Given the description of an element on the screen output the (x, y) to click on. 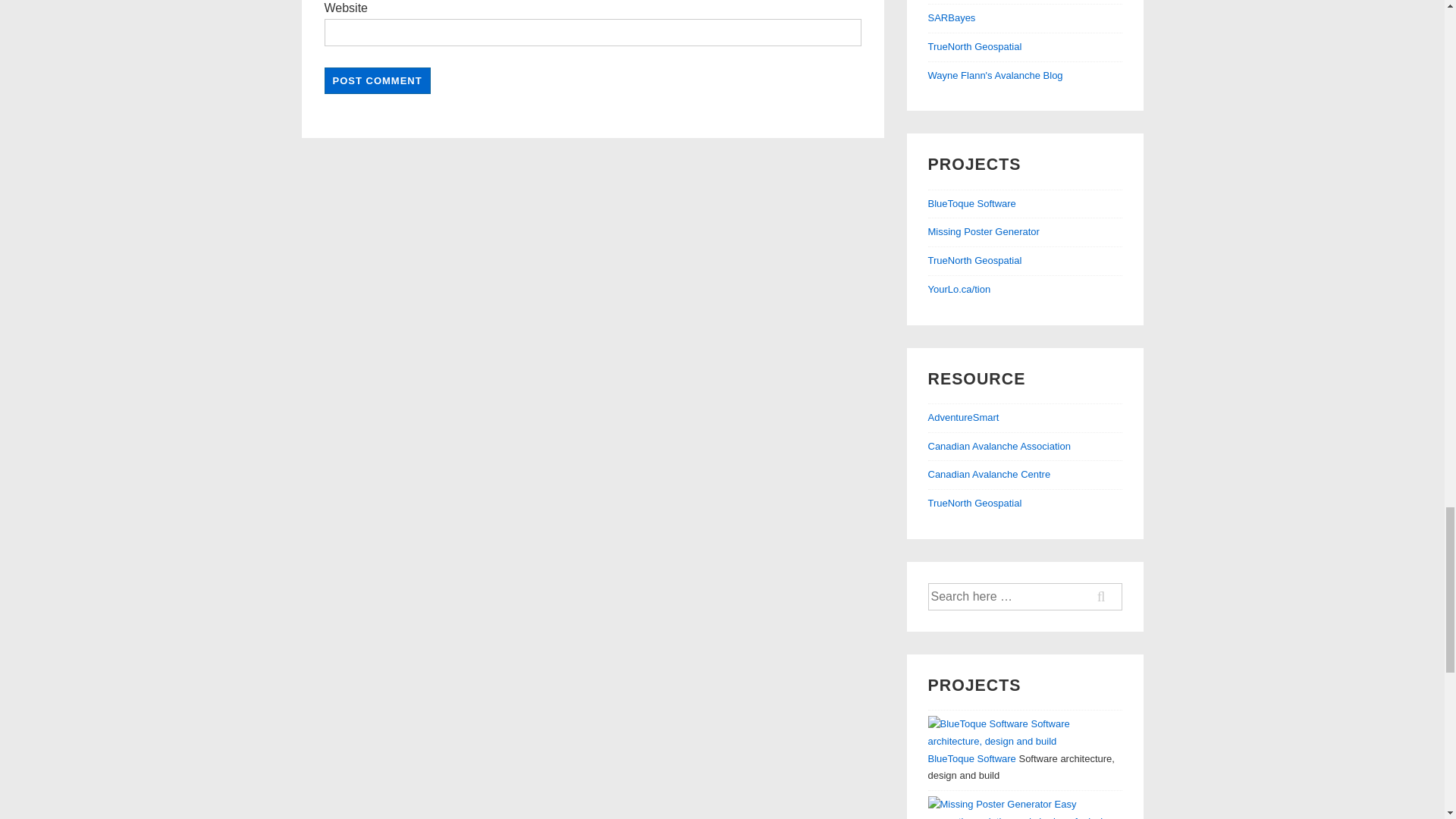
Software architecture, design and build (972, 203)
Post Comment (377, 80)
Mapping software for backcountry professionals (975, 46)
